Given the description of an element on the screen output the (x, y) to click on. 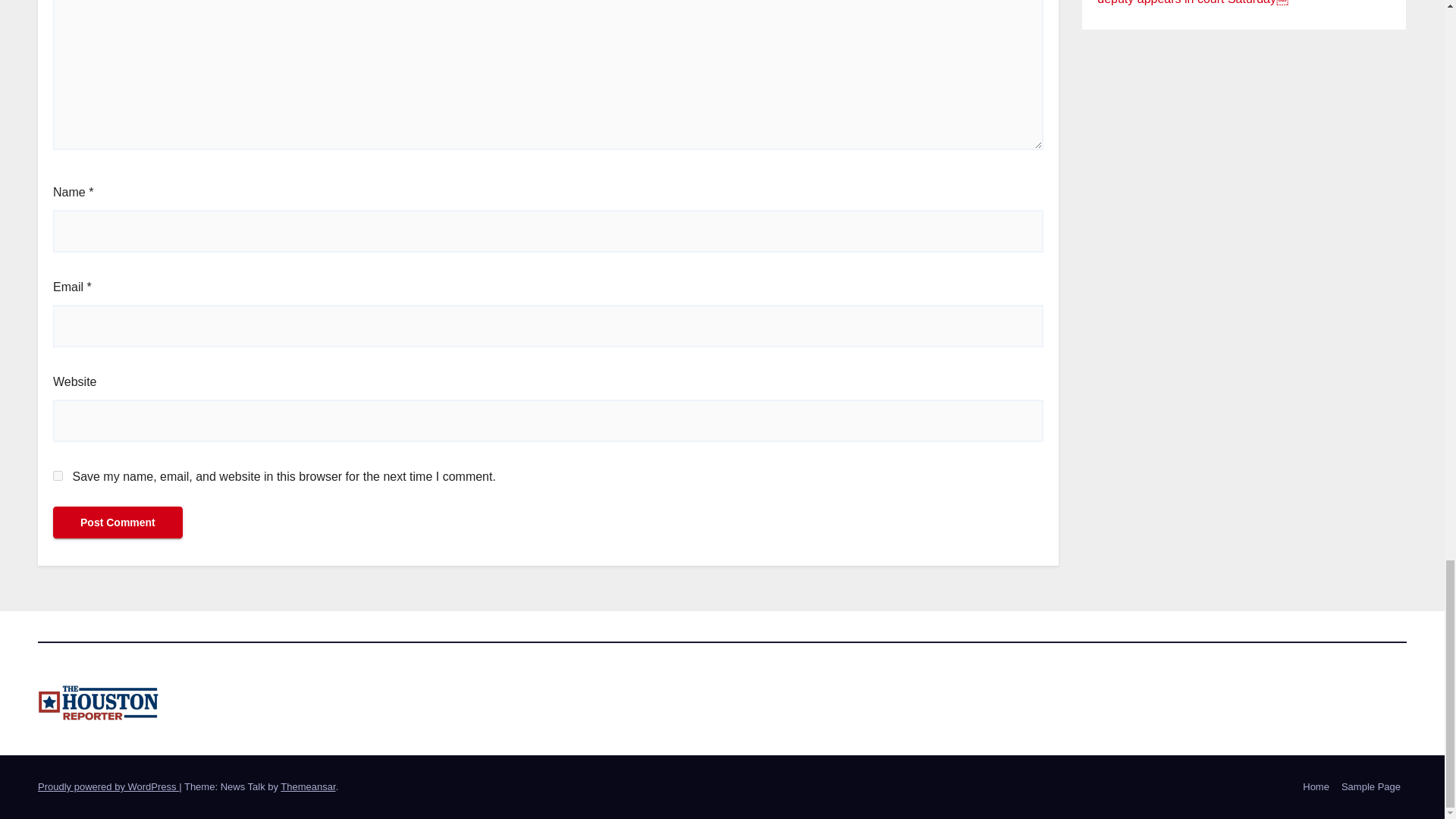
Post Comment (117, 522)
Home (1316, 786)
Post Comment (117, 522)
yes (57, 475)
